Given the description of an element on the screen output the (x, y) to click on. 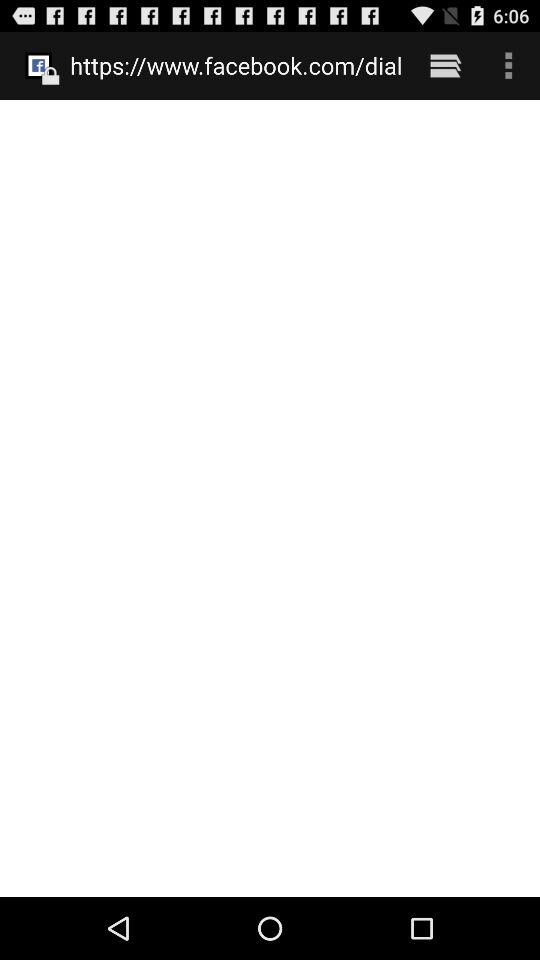
press the item at the center (270, 497)
